Given the description of an element on the screen output the (x, y) to click on. 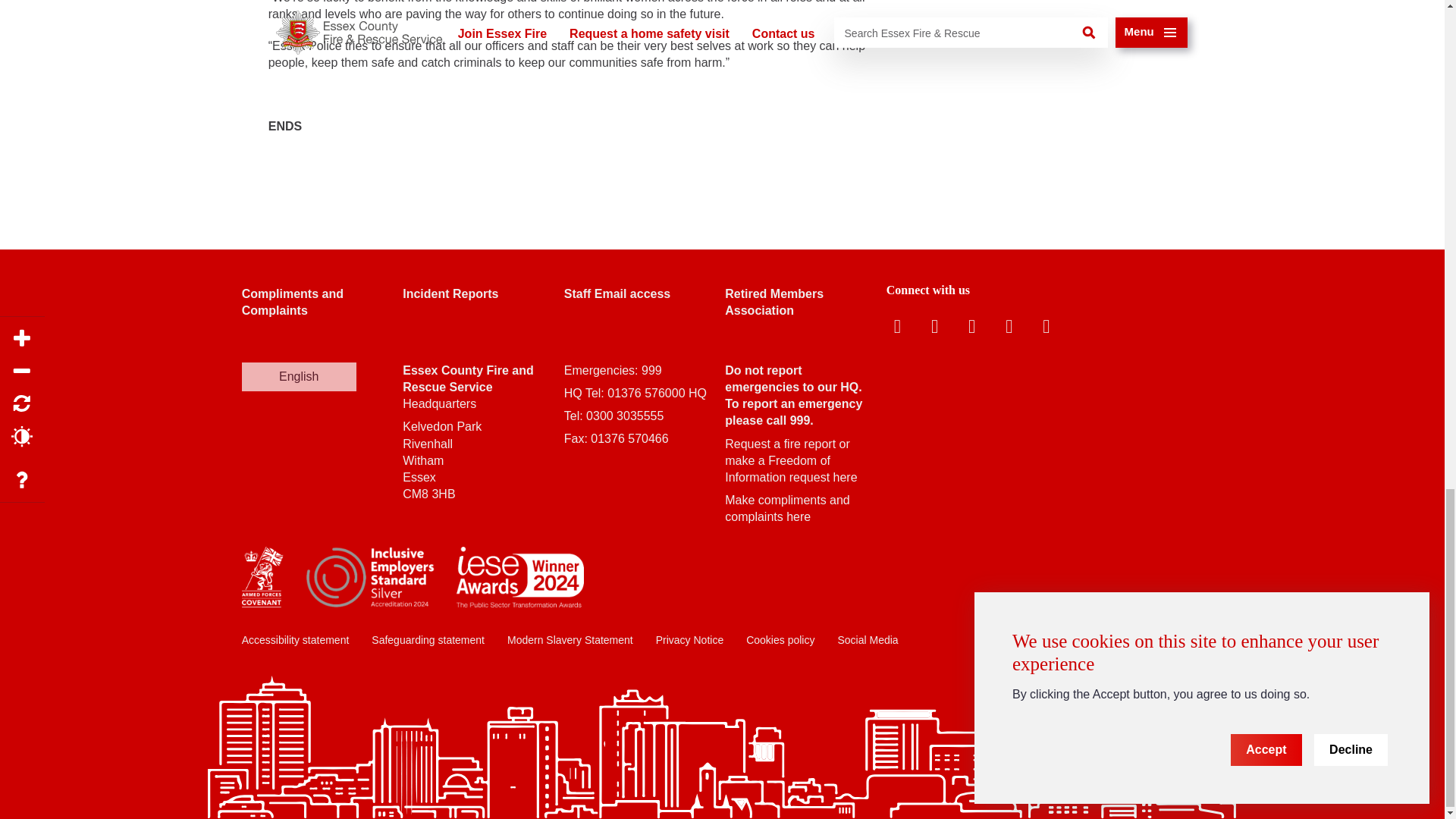
Modern Slavery Statement (569, 639)
Privacy Notice (689, 639)
